Given the description of an element on the screen output the (x, y) to click on. 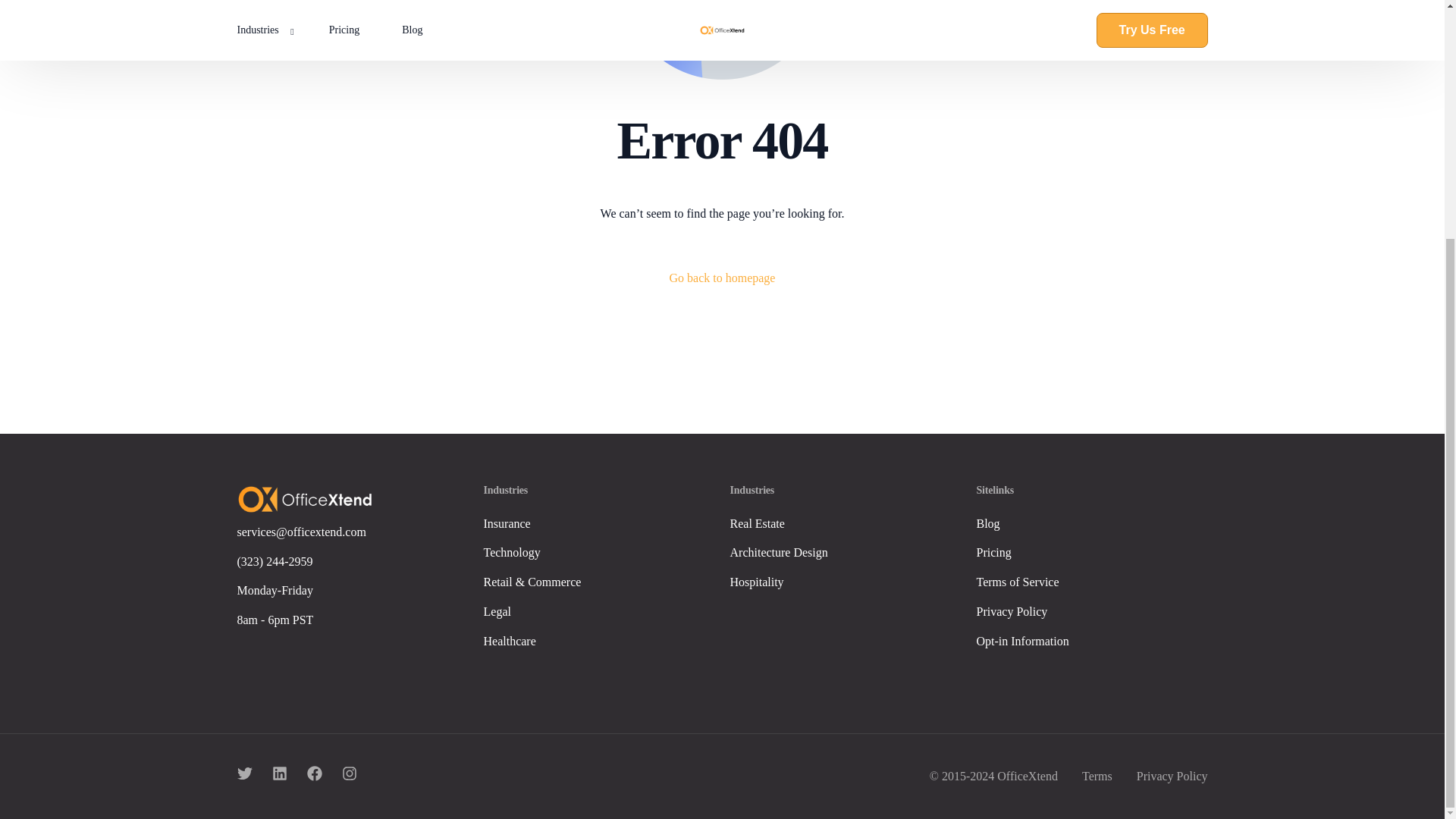
Blog (1092, 524)
Hospitality (844, 582)
Technology (598, 553)
Real Estate (844, 524)
Terms of Service (1092, 582)
Privacy Policy (1092, 612)
Pricing (1092, 553)
Terms (1096, 776)
Go back to homepage (722, 278)
8am - 6pm PST (351, 620)
Insurance (598, 524)
Legal (598, 612)
Healthcare (598, 641)
Architecture Design (844, 553)
Opt-in Information (1092, 641)
